Given the description of an element on the screen output the (x, y) to click on. 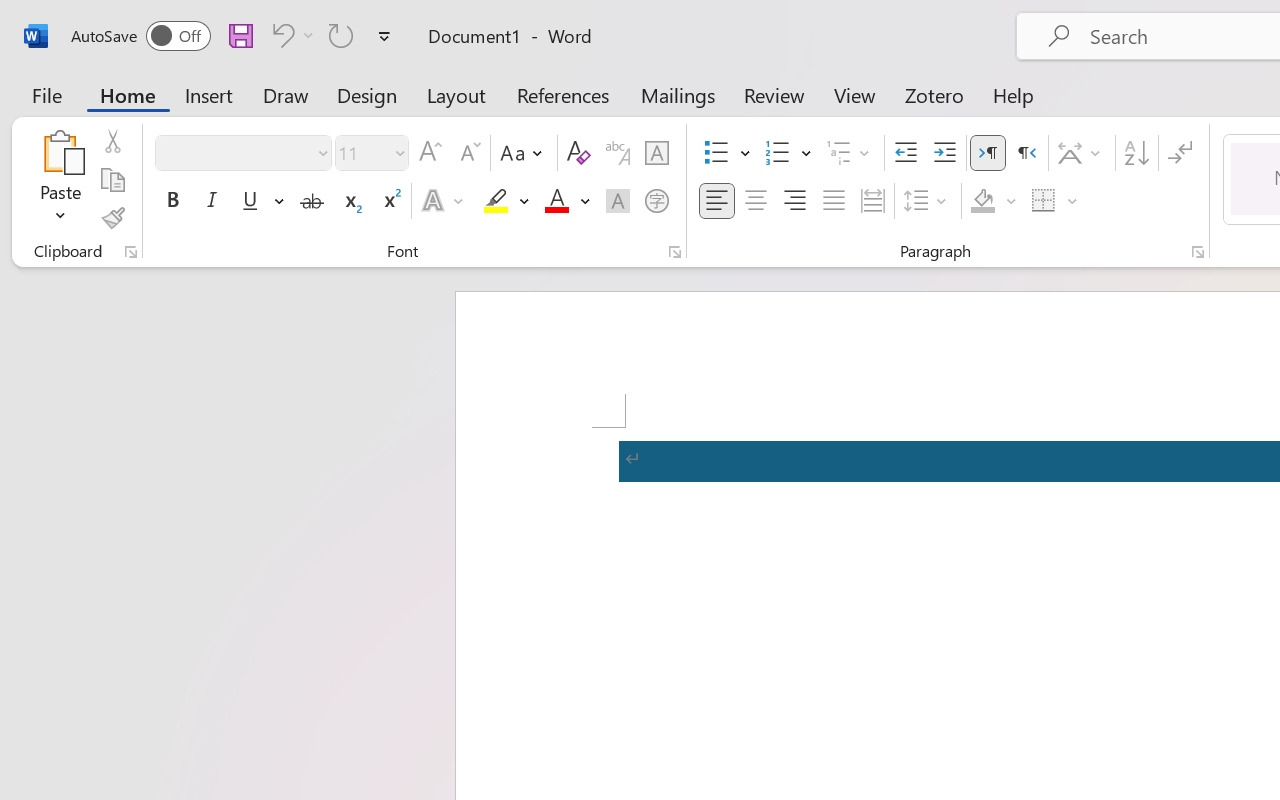
Undo Apply Quick Style Set (280, 35)
Shading No Color (982, 201)
